Given the description of an element on the screen output the (x, y) to click on. 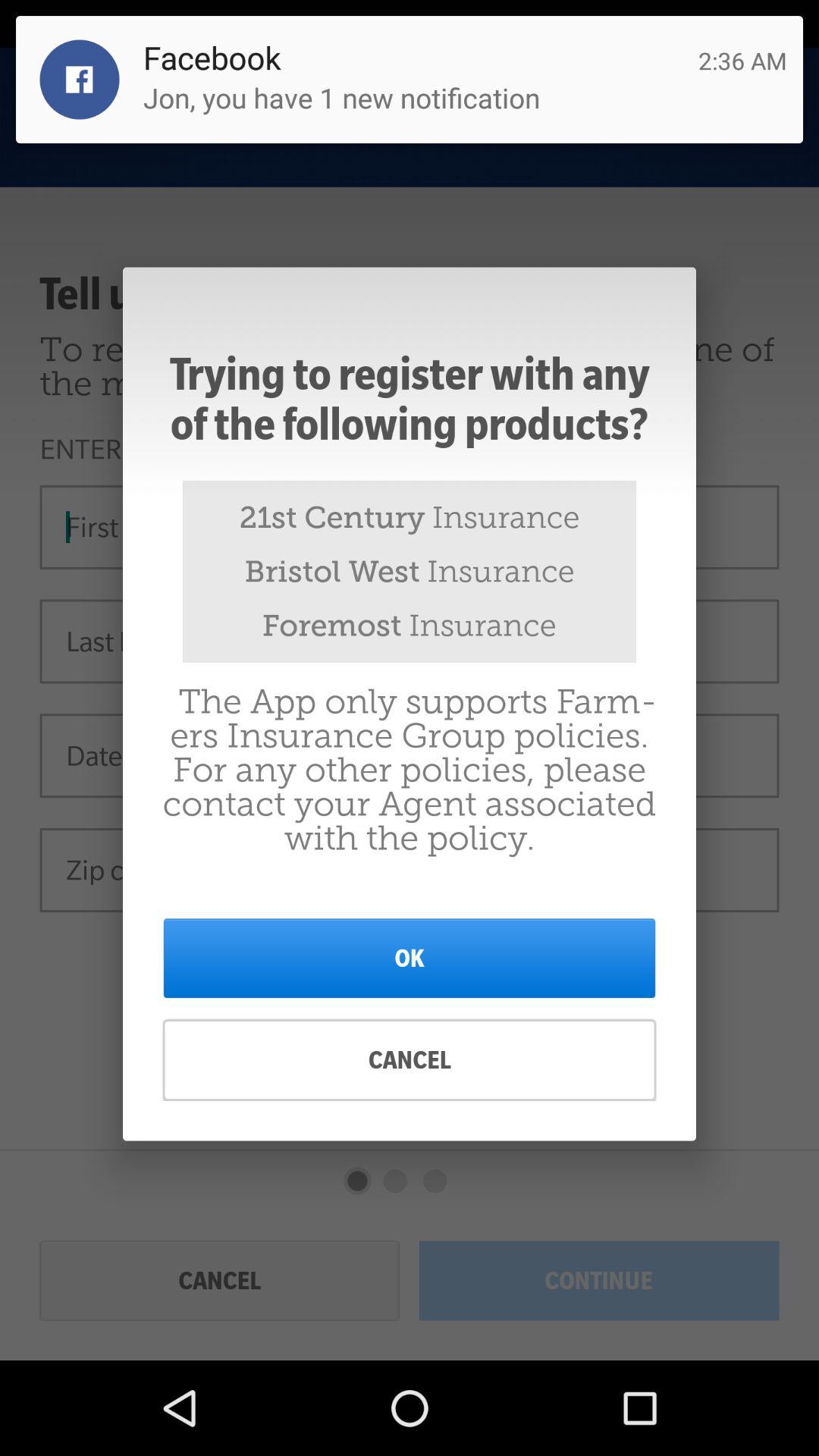
scroll to the cancel icon (409, 1060)
